Given the description of an element on the screen output the (x, y) to click on. 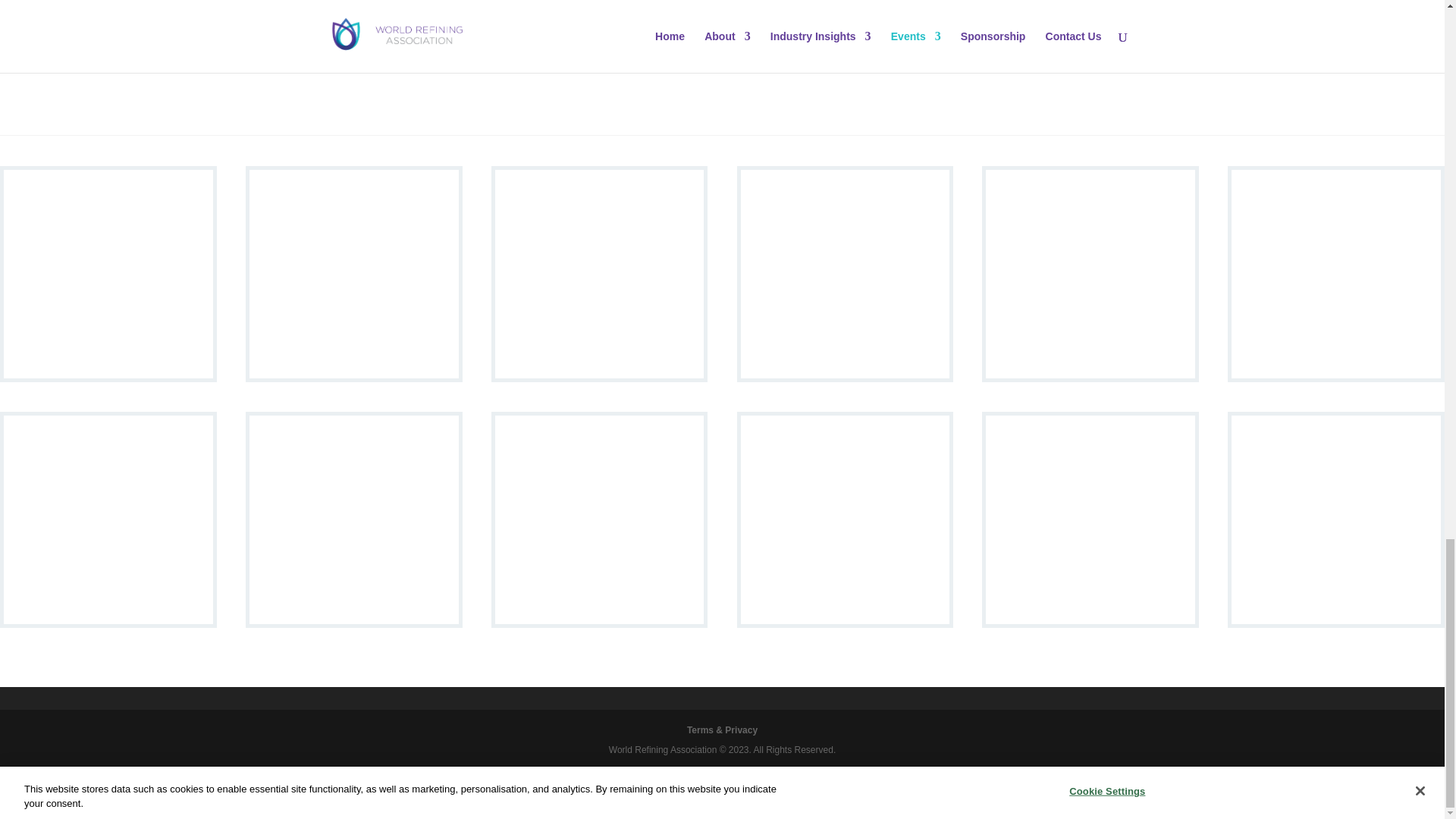
Pedro-Medina-On-Stage (845, 373)
Ross-O-Brien-On-Stage (108, 373)
ERTC 2019 Rising Star Winner Damian Kwiatkowski (1090, 373)
READ MORE (1040, 53)
Damian-Kwiatkowski-On-Stage-1 (353, 373)
READ MORE (835, 53)
